Given the description of an element on the screen output the (x, y) to click on. 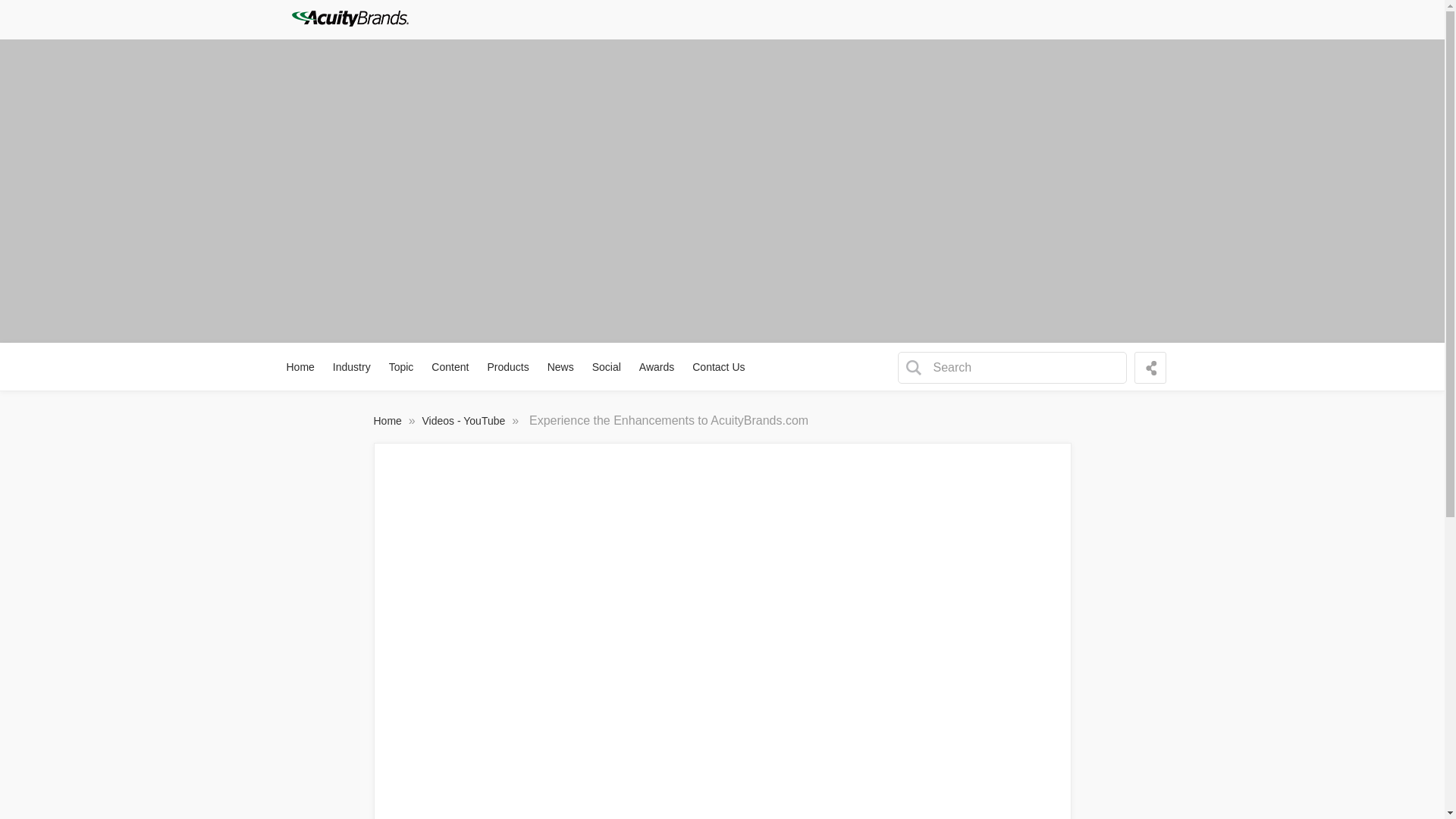
Home (301, 366)
Industry (351, 366)
Topic (401, 366)
